Given the description of an element on the screen output the (x, y) to click on. 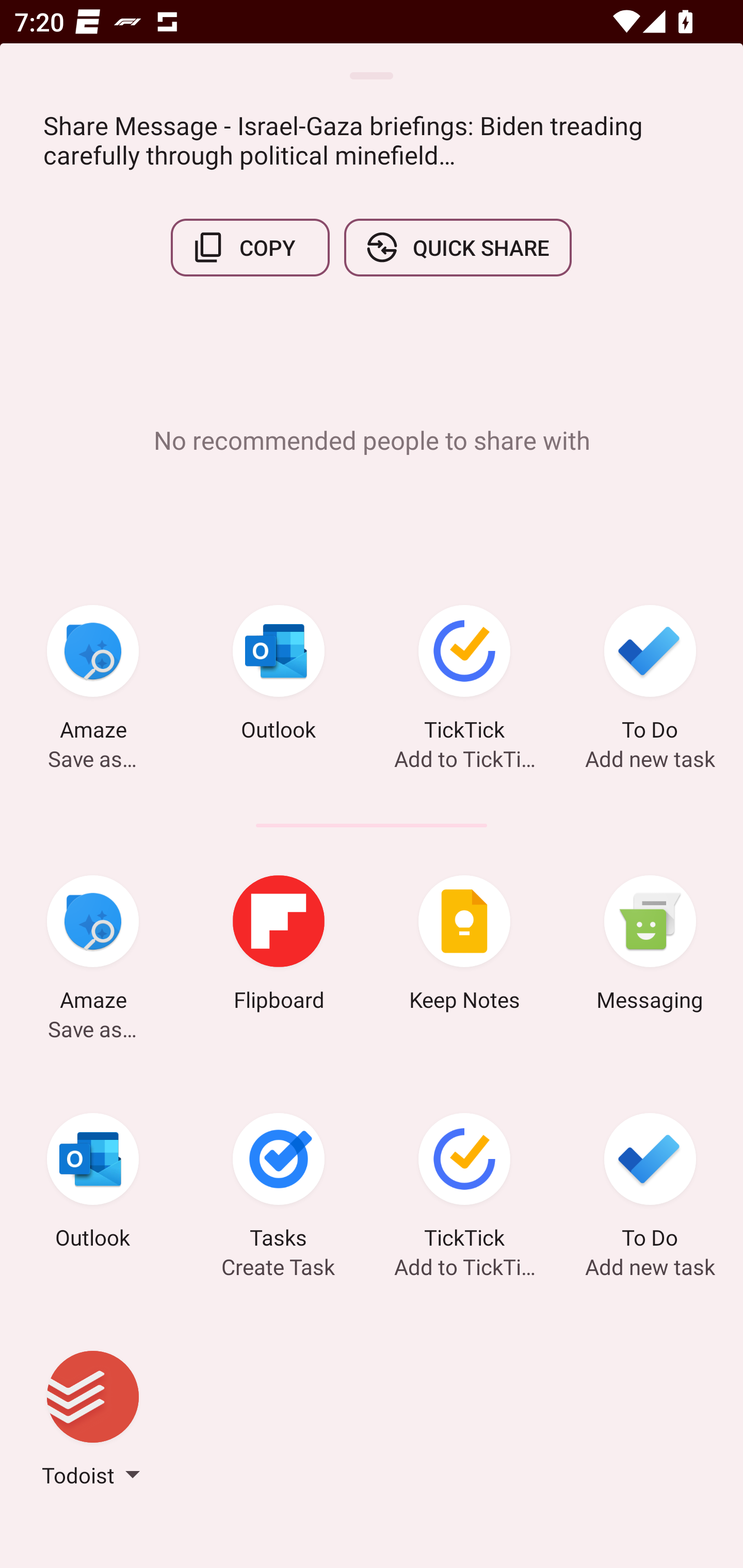
COPY (249, 247)
QUICK SHARE (457, 247)
Amaze Save as… (92, 675)
Outlook (278, 675)
TickTick Add to TickTick (464, 675)
To Do Add new task (650, 675)
Amaze Save as… (92, 945)
Flipboard (278, 945)
Keep Notes (464, 945)
Messaging (650, 945)
Outlook (92, 1183)
Tasks Create Task (278, 1183)
TickTick Add to TickTick (464, 1183)
To Do Add new task (650, 1183)
Todoist (92, 1422)
